Given the description of an element on the screen output the (x, y) to click on. 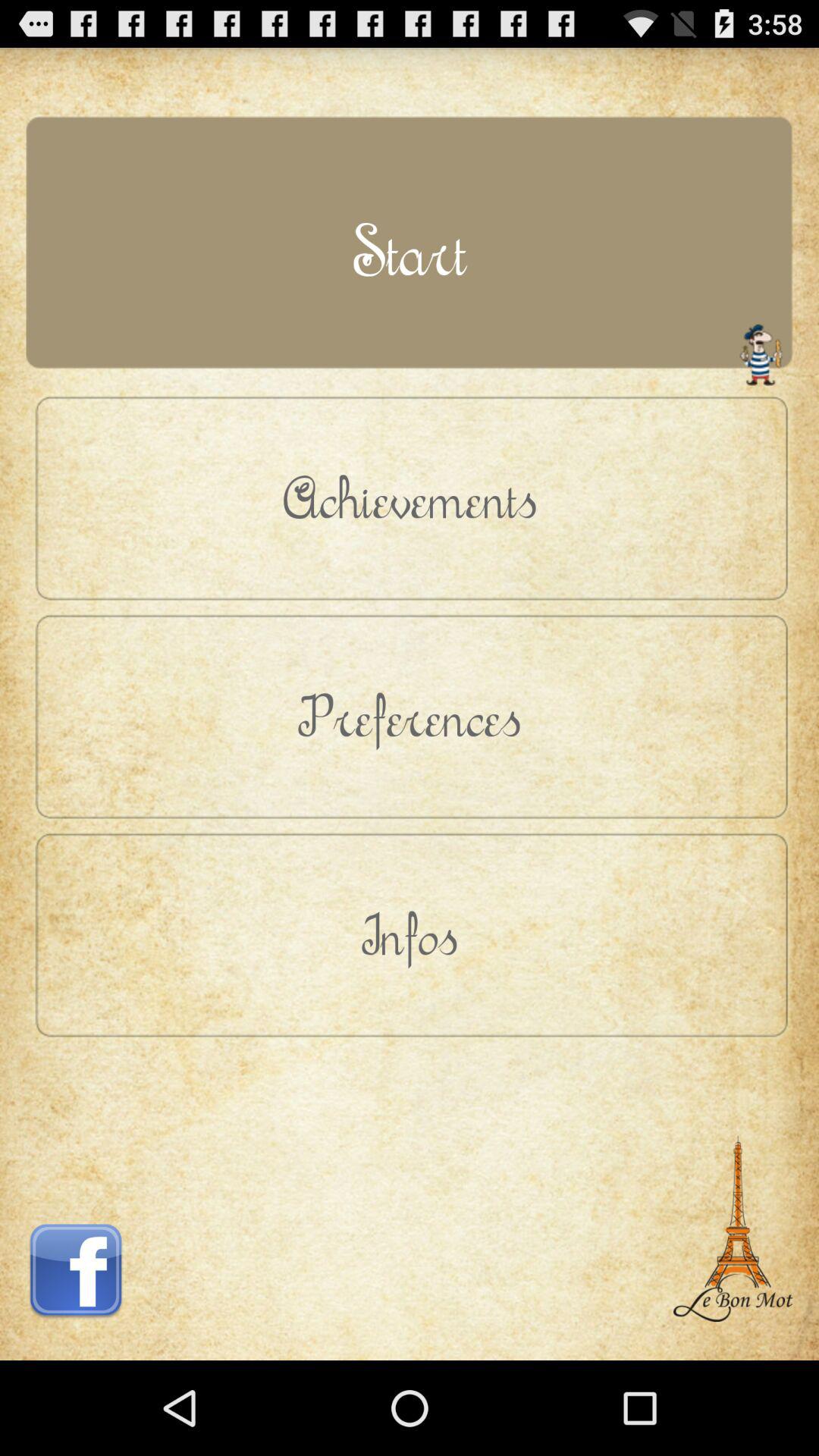
turn on the button above the achievements (409, 250)
